Given the description of an element on the screen output the (x, y) to click on. 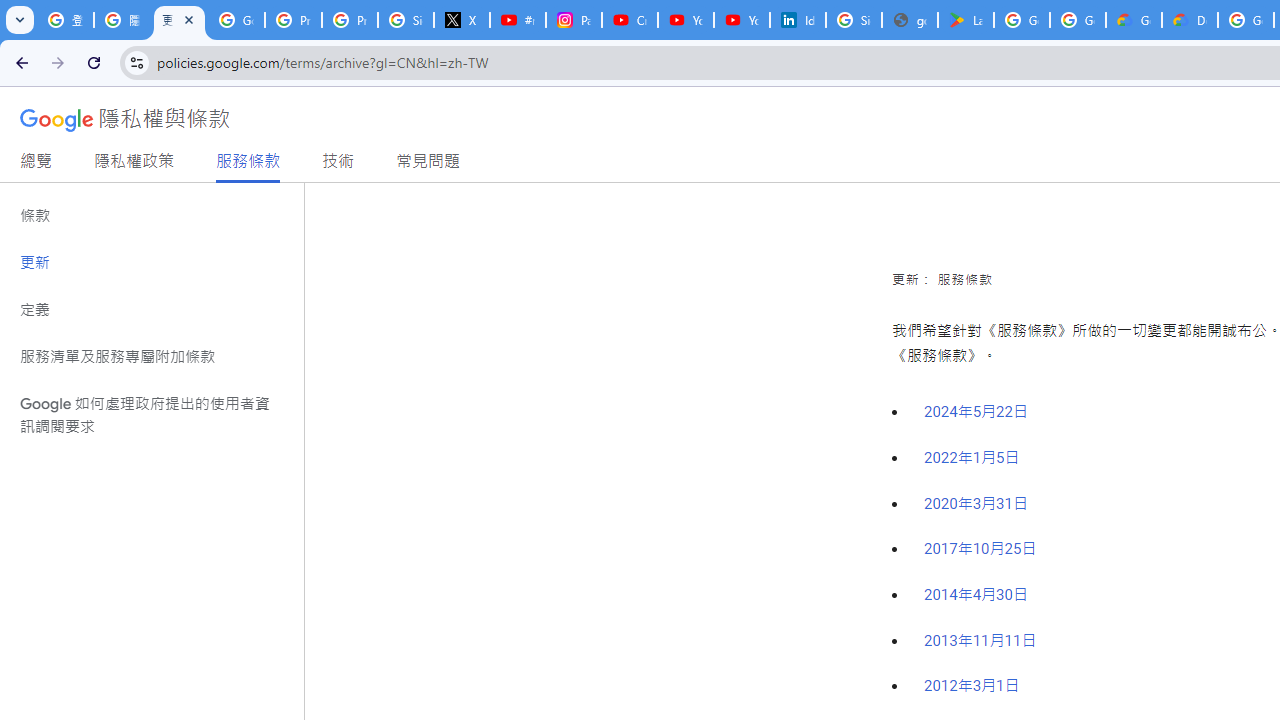
Last Shelter: Survival - Apps on Google Play (966, 20)
